Given the description of an element on the screen output the (x, y) to click on. 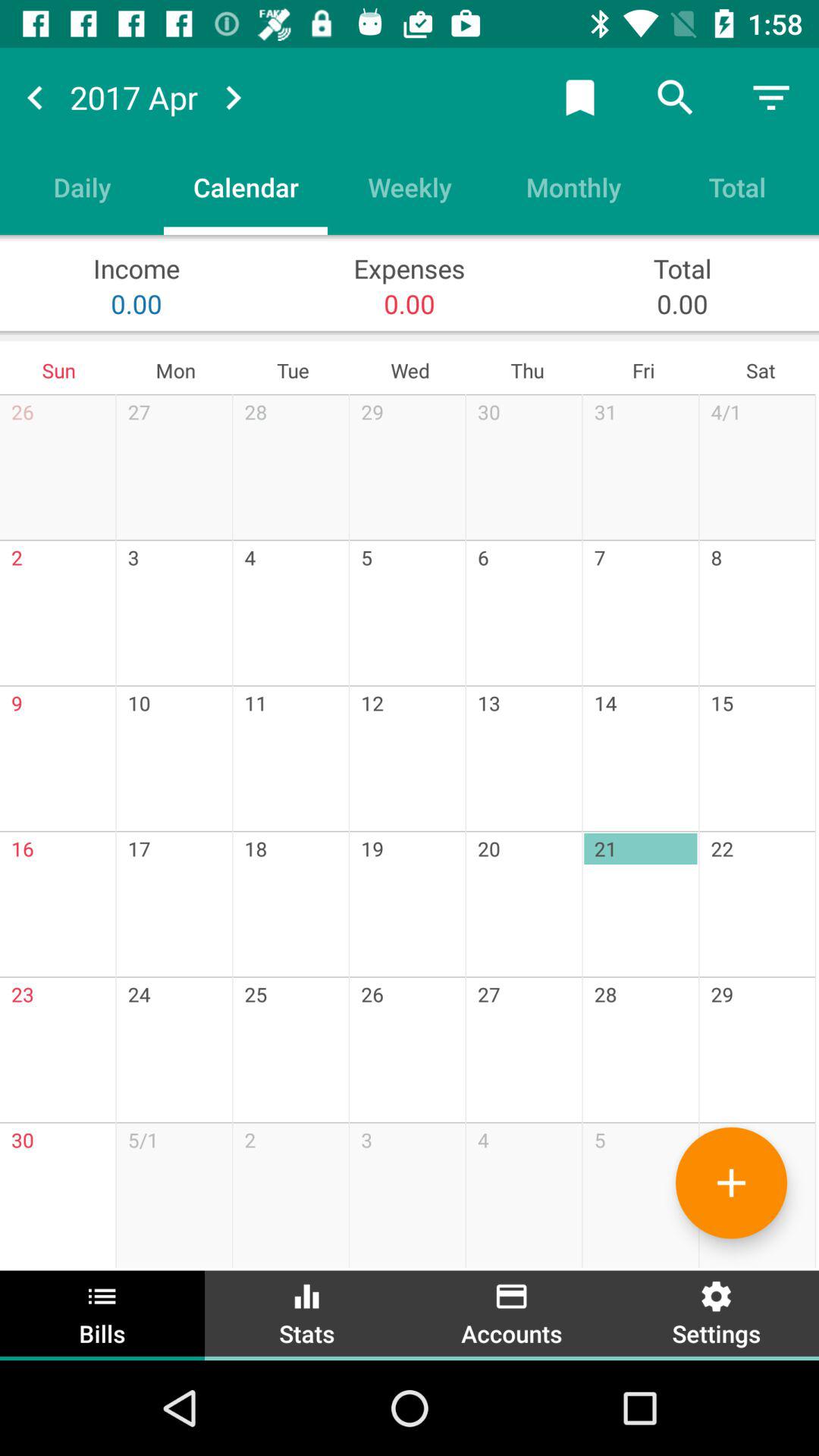
open menu (771, 97)
